Given the description of an element on the screen output the (x, y) to click on. 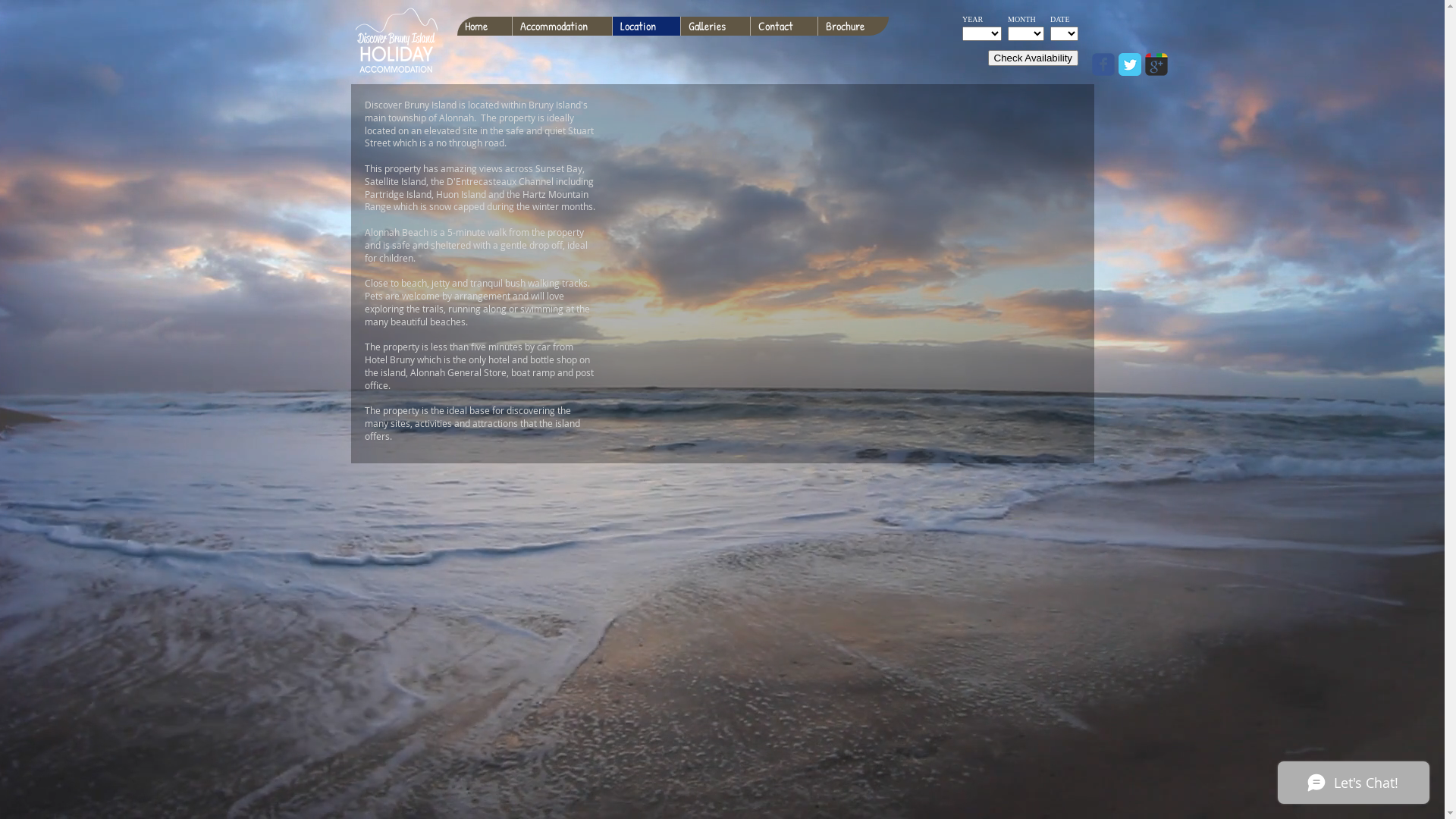
Contact Element type: text (782, 25)
Home Element type: text (483, 25)
Google Maps Element type: hover (840, 253)
Accommodation Element type: text (561, 25)
Location Element type: text (645, 25)
Embedded Content Element type: hover (1021, 44)
Brochure Element type: text (852, 25)
Galleries Element type: text (714, 25)
Discover Bruny Island Holiday Accommodation Element type: hover (395, 40)
